Given the description of an element on the screen output the (x, y) to click on. 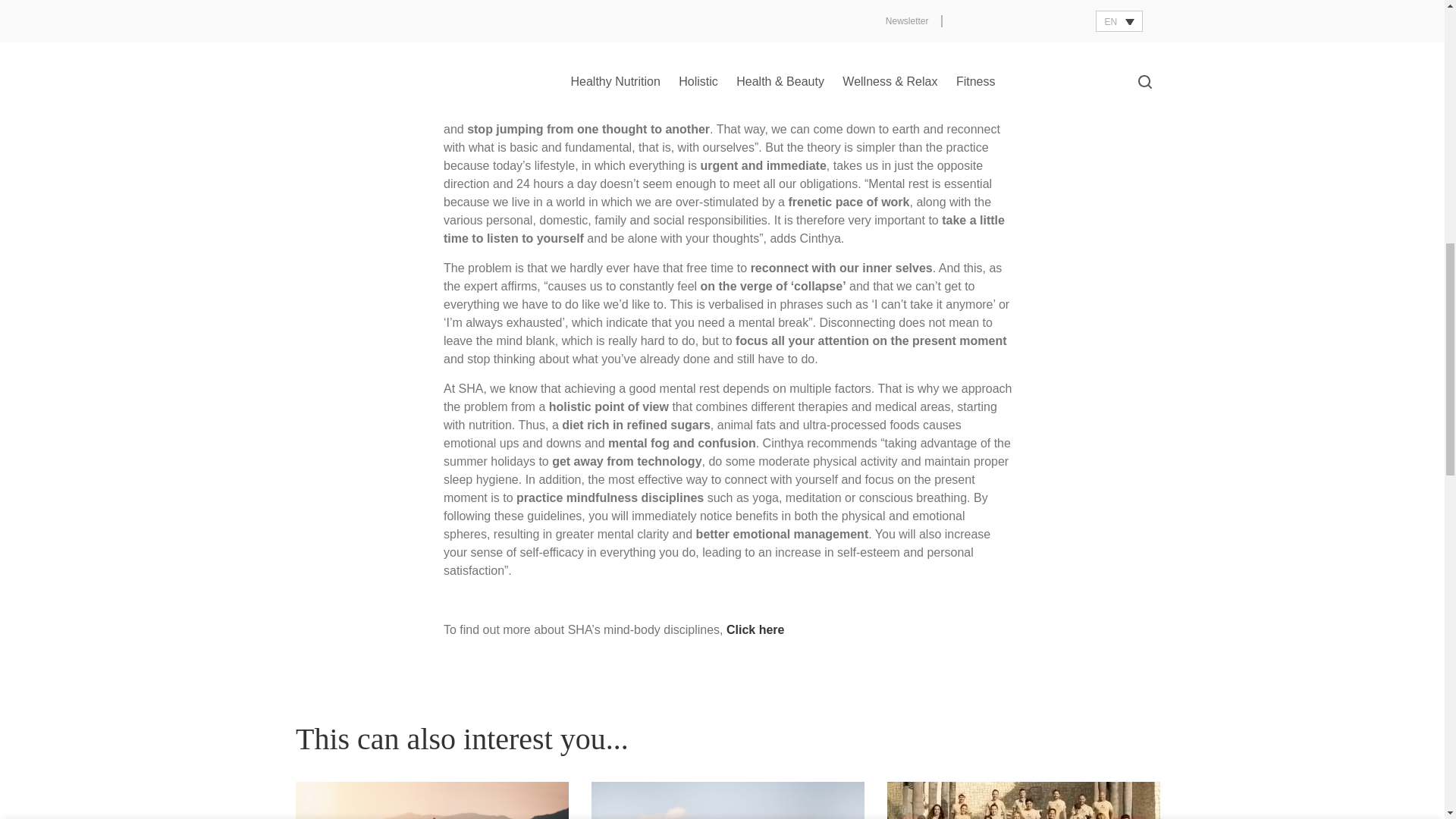
Share on Twitter (1053, 25)
Click here (755, 629)
Share on Email (1138, 25)
Share on Facebook (1026, 25)
Share on Pinterest (1082, 25)
Share on LinkedIn (1109, 25)
